Given the description of an element on the screen output the (x, y) to click on. 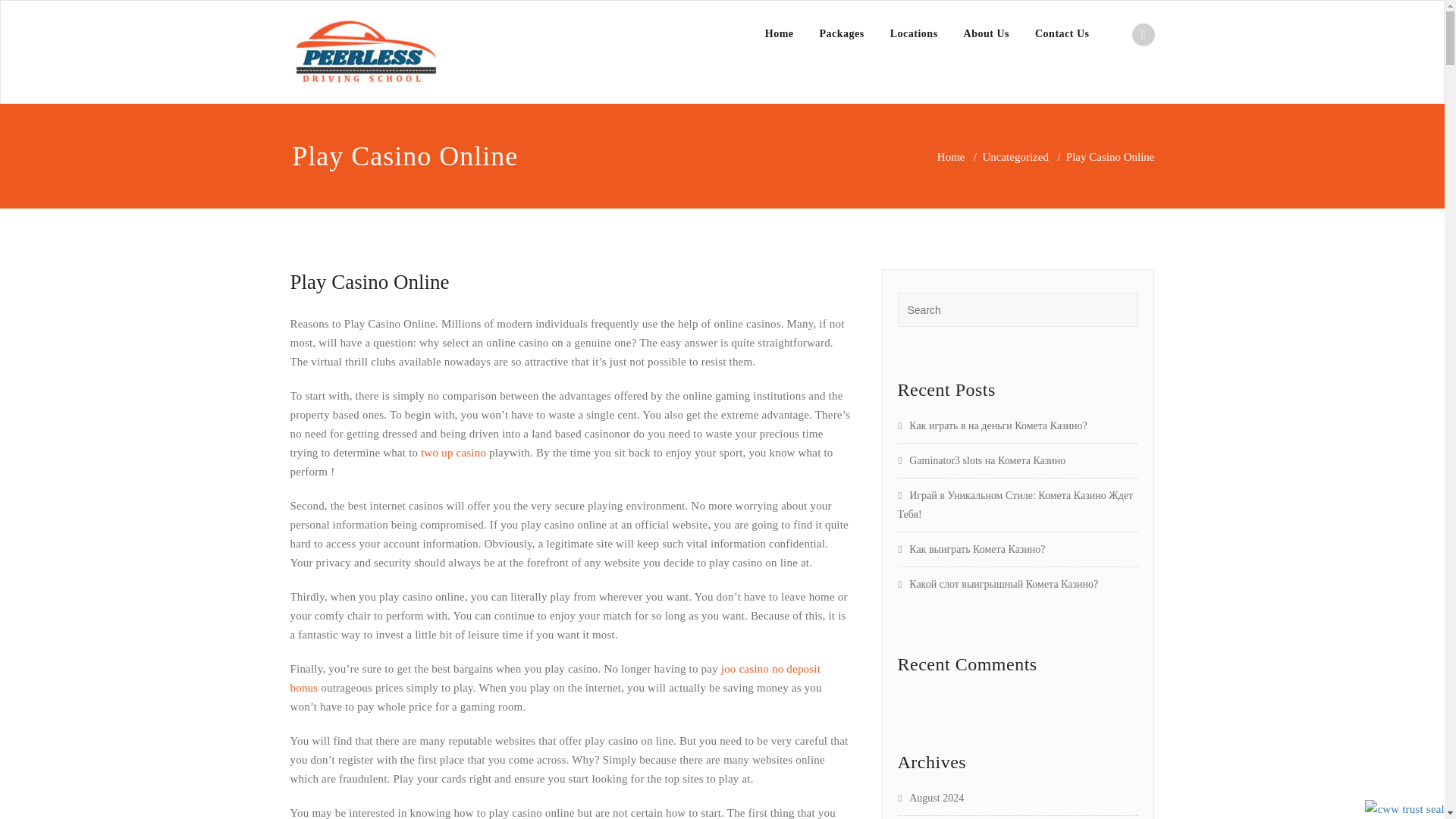
About Us (986, 33)
Uncategorized (1014, 156)
Play Casino Online (368, 282)
Locations (913, 33)
Home (951, 156)
Packages (841, 33)
August 2024 (930, 797)
Home (779, 33)
two up casino (453, 452)
joo casino no deposit bonus (555, 677)
